Given the description of an element on the screen output the (x, y) to click on. 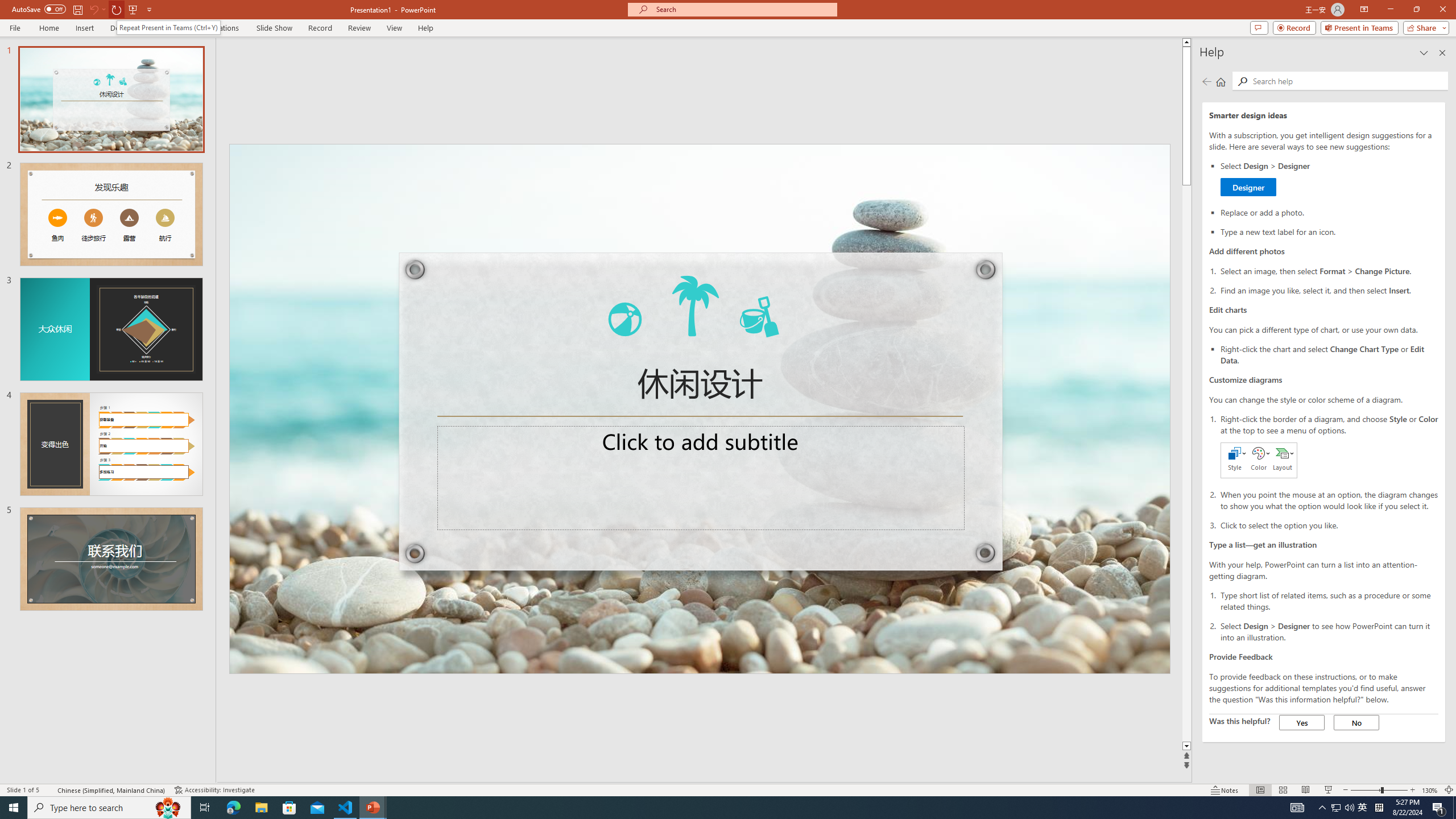
Zoom 130% (1430, 790)
Search (1241, 81)
Yes (1301, 722)
Find an image you like, select it, and then select Insert. (1329, 289)
